Given the description of an element on the screen output the (x, y) to click on. 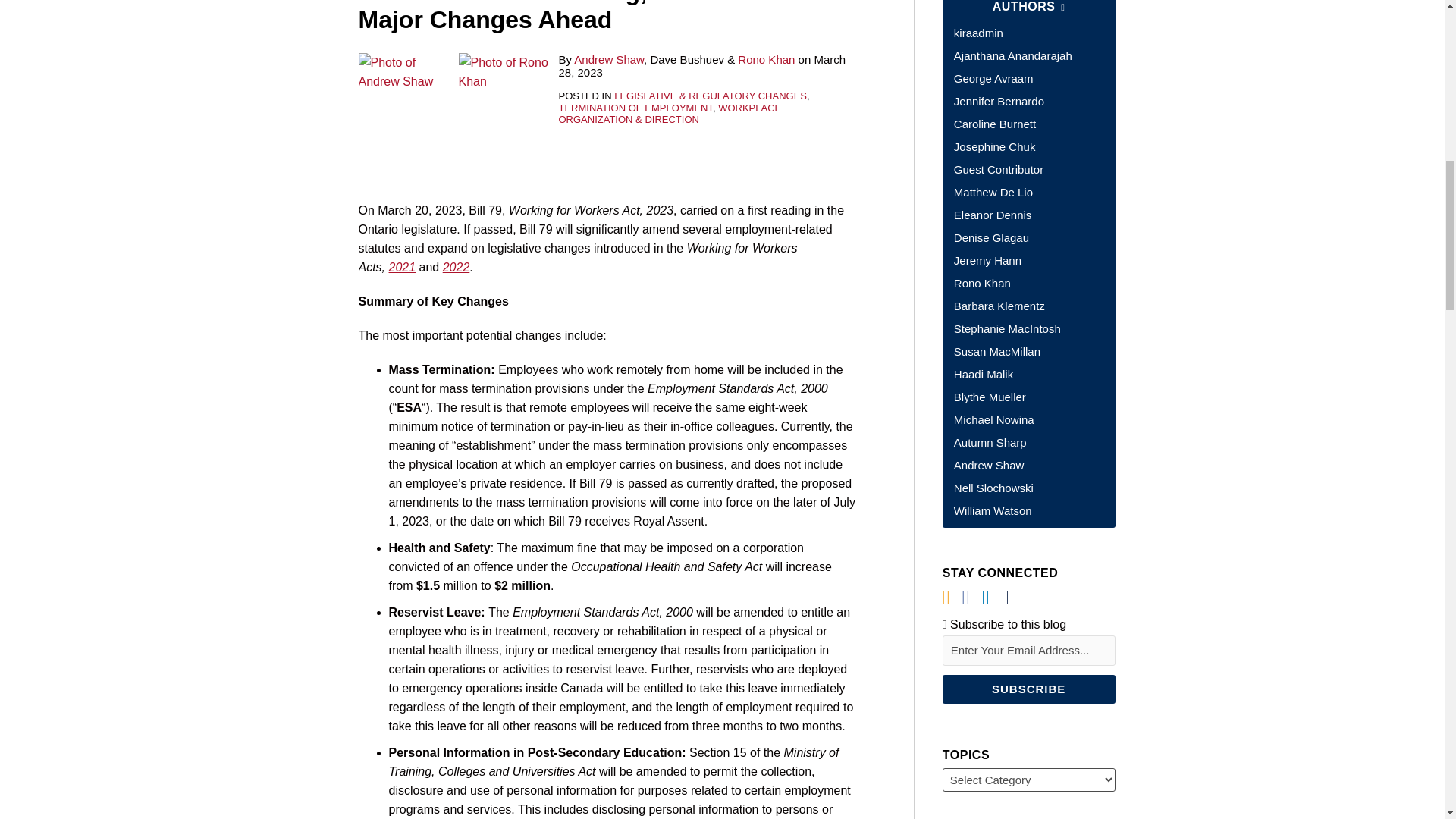
TERMINATION OF EMPLOYMENT (634, 107)
Andrew Shaw (608, 59)
2021 (402, 267)
2022 (456, 267)
Subscribe (1028, 688)
Rono Khan (766, 59)
